Given the description of an element on the screen output the (x, y) to click on. 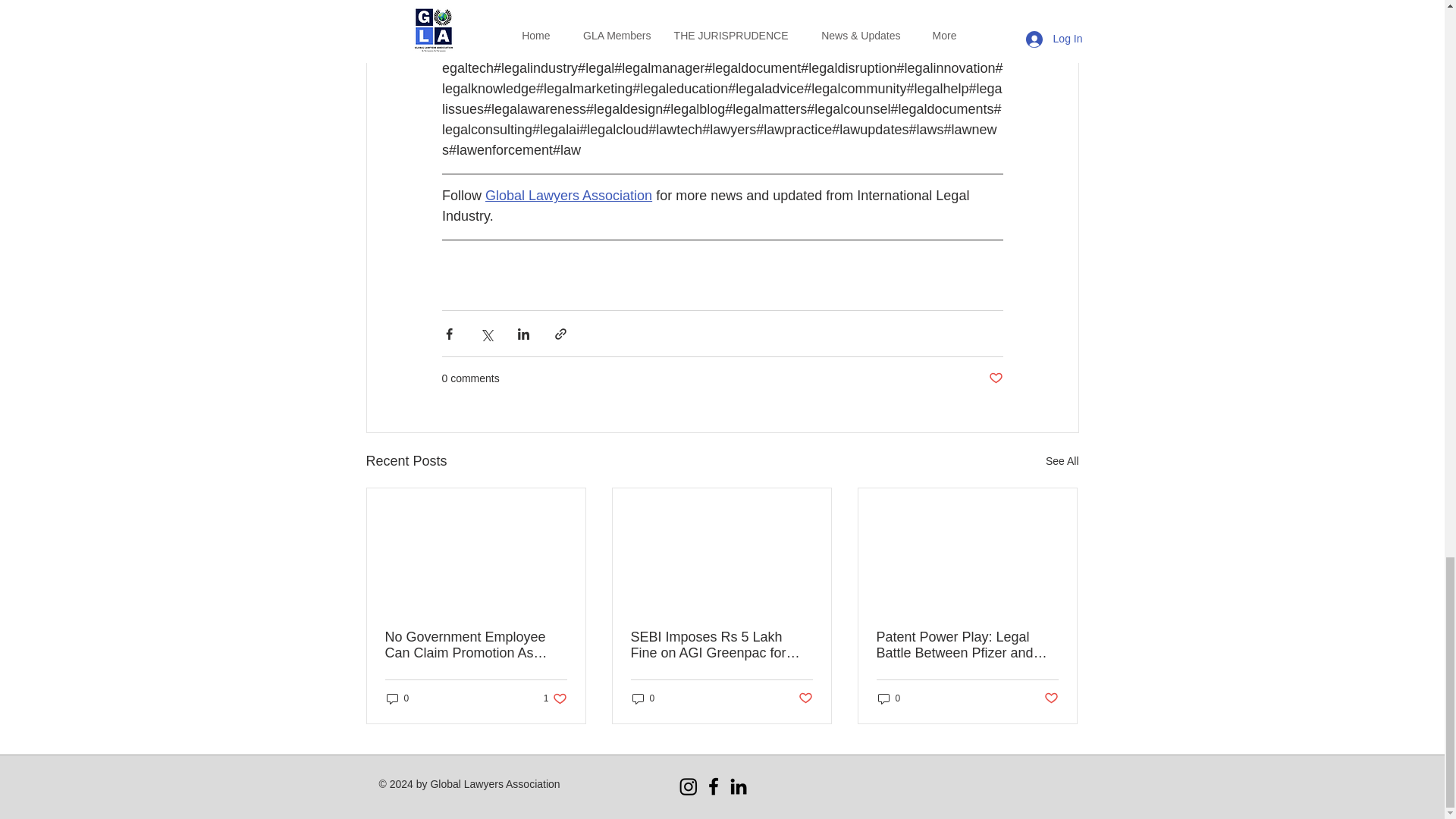
Post not marked as liked (1050, 698)
Global Lawyers Association (568, 195)
0 (397, 698)
0 (643, 698)
0 (889, 698)
See All (555, 698)
Post not marked as liked (1061, 461)
Post not marked as liked (995, 378)
